Given the description of an element on the screen output the (x, y) to click on. 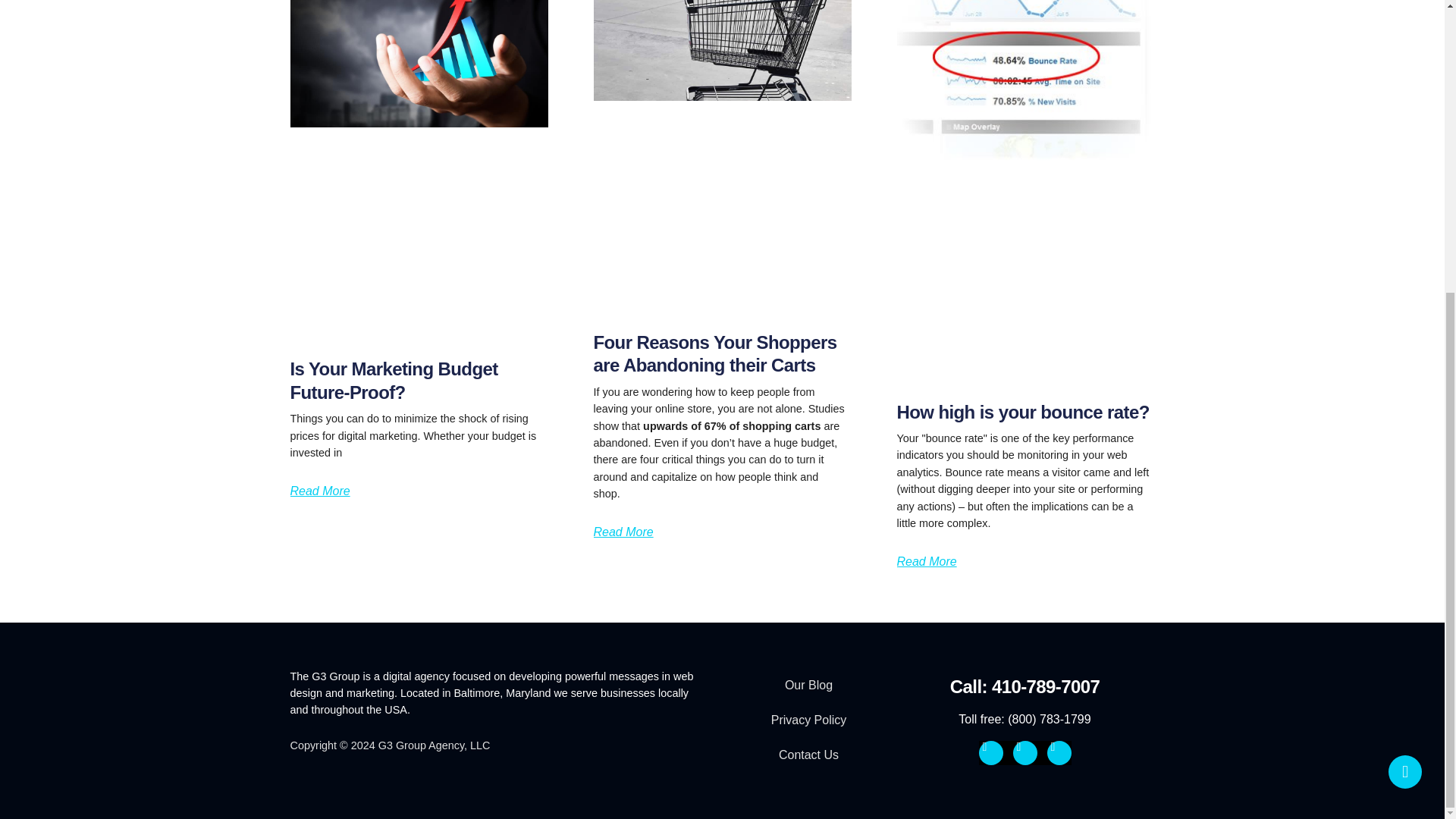
LinkedIn (1058, 752)
Facebook (990, 752)
scroll to top (1405, 323)
Twitter (1024, 752)
